Given the description of an element on the screen output the (x, y) to click on. 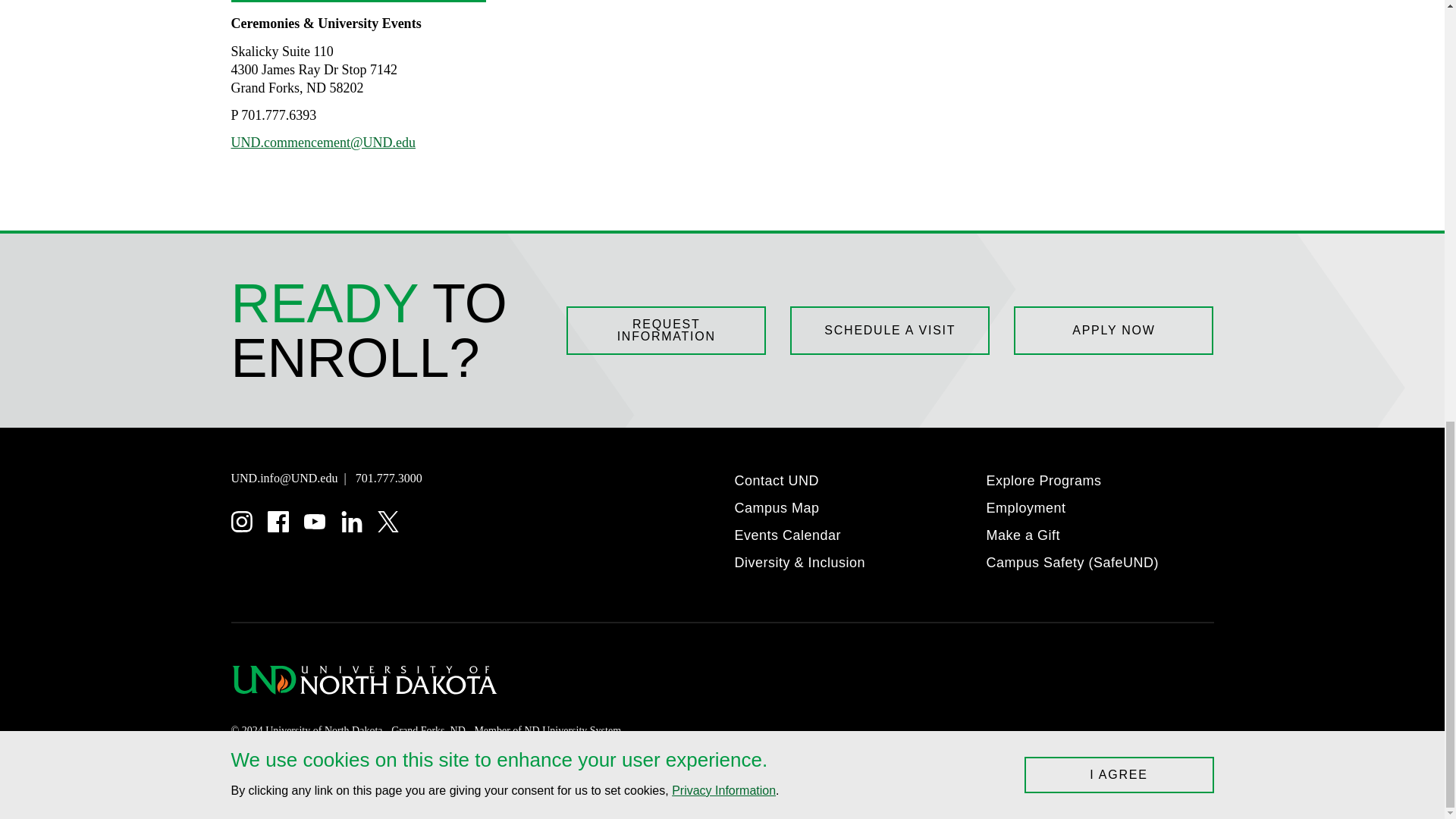
Instagram (240, 521)
LinkedIn (351, 521)
Facebook (277, 521)
YouTube (314, 521)
X (387, 521)
